Given the description of an element on the screen output the (x, y) to click on. 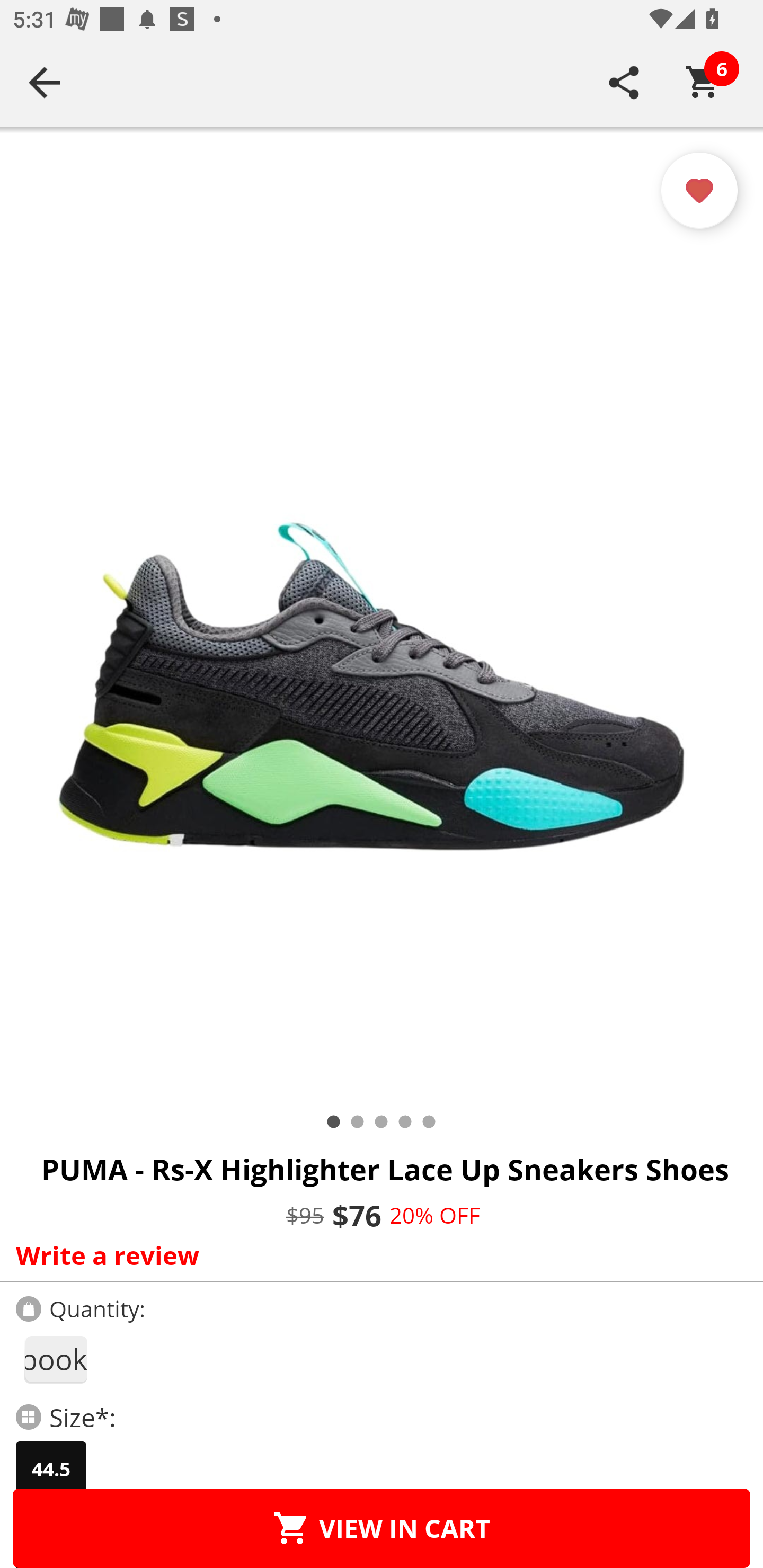
Navigate up (44, 82)
SHARE (623, 82)
Cart (703, 81)
Write a review (377, 1255)
1tissuenotebook (55, 1358)
44.5 (51, 1468)
VIEW IN CART (381, 1528)
